Given the description of an element on the screen output the (x, y) to click on. 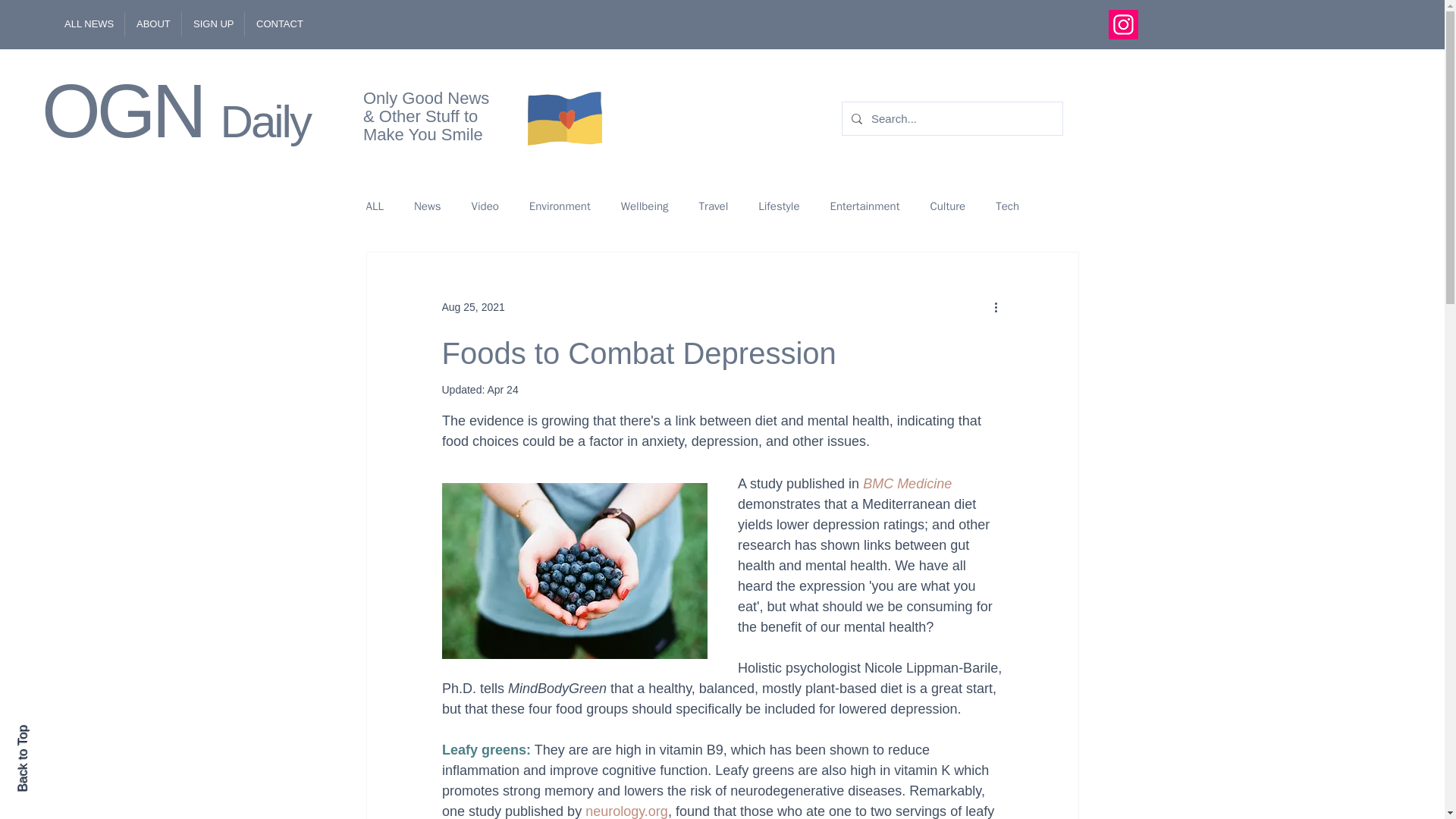
neurology.org (626, 811)
News (427, 205)
Entertainment (864, 205)
Tech (1007, 205)
Culture (947, 205)
Environment (560, 205)
ALL (373, 205)
SIGN UP (212, 24)
OGN Daily (176, 110)
Travel (713, 205)
